Given the description of an element on the screen output the (x, y) to click on. 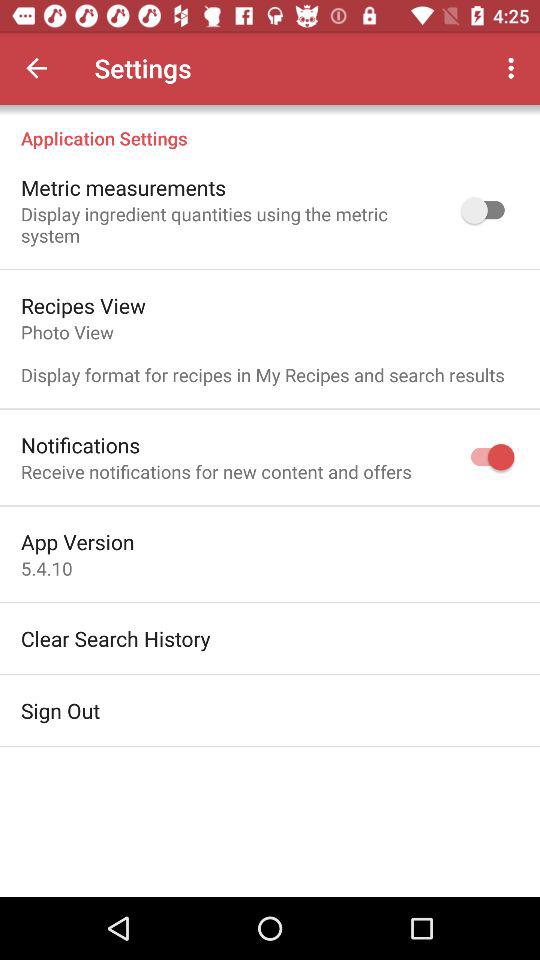
turn off the item above the display ingredient quantities icon (123, 187)
